Given the description of an element on the screen output the (x, y) to click on. 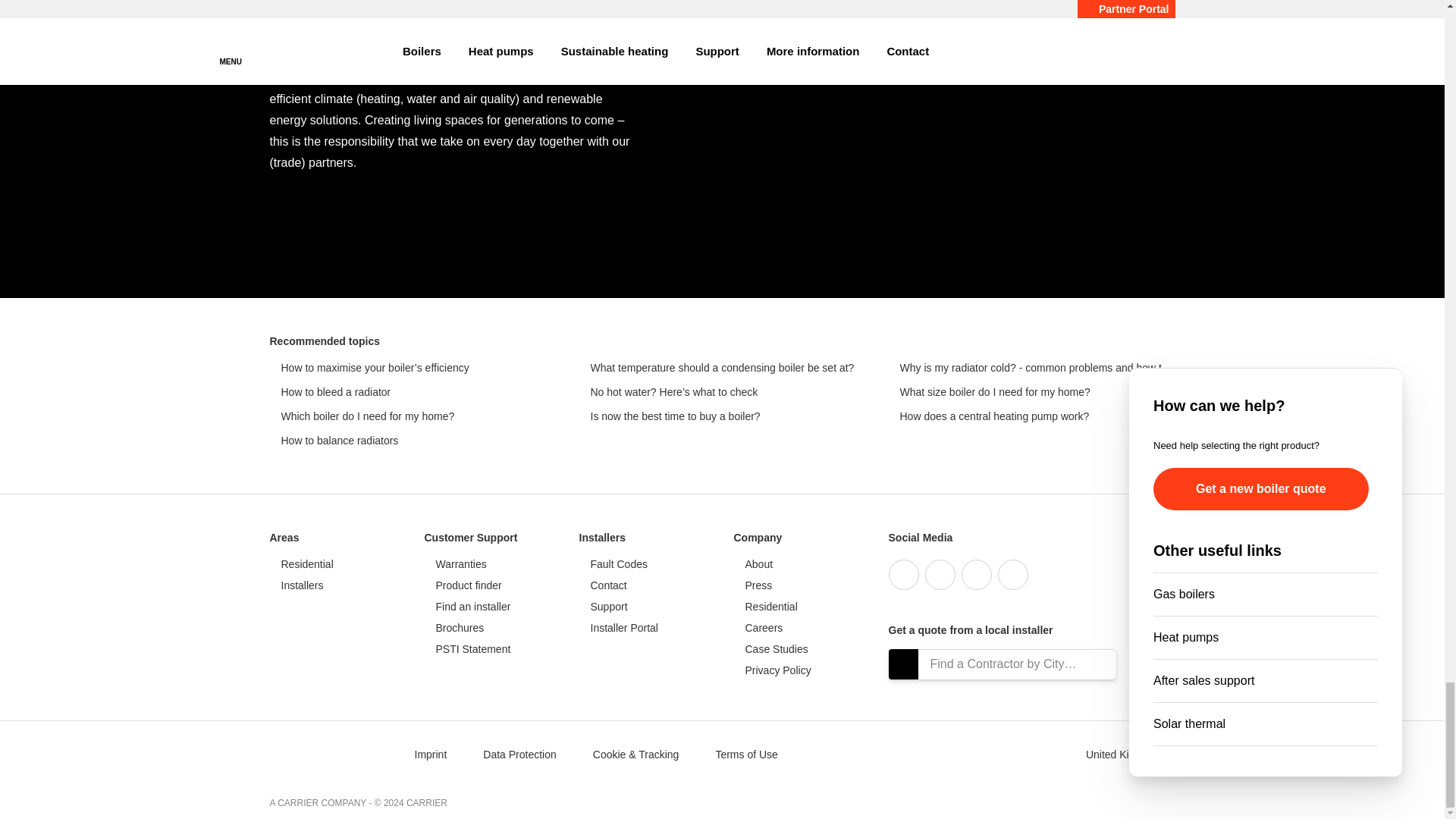
Twitter (939, 574)
Use current location (903, 664)
LinkedIn (1012, 574)
Youtube (975, 574)
Facebook (903, 574)
